Given the description of an element on the screen output the (x, y) to click on. 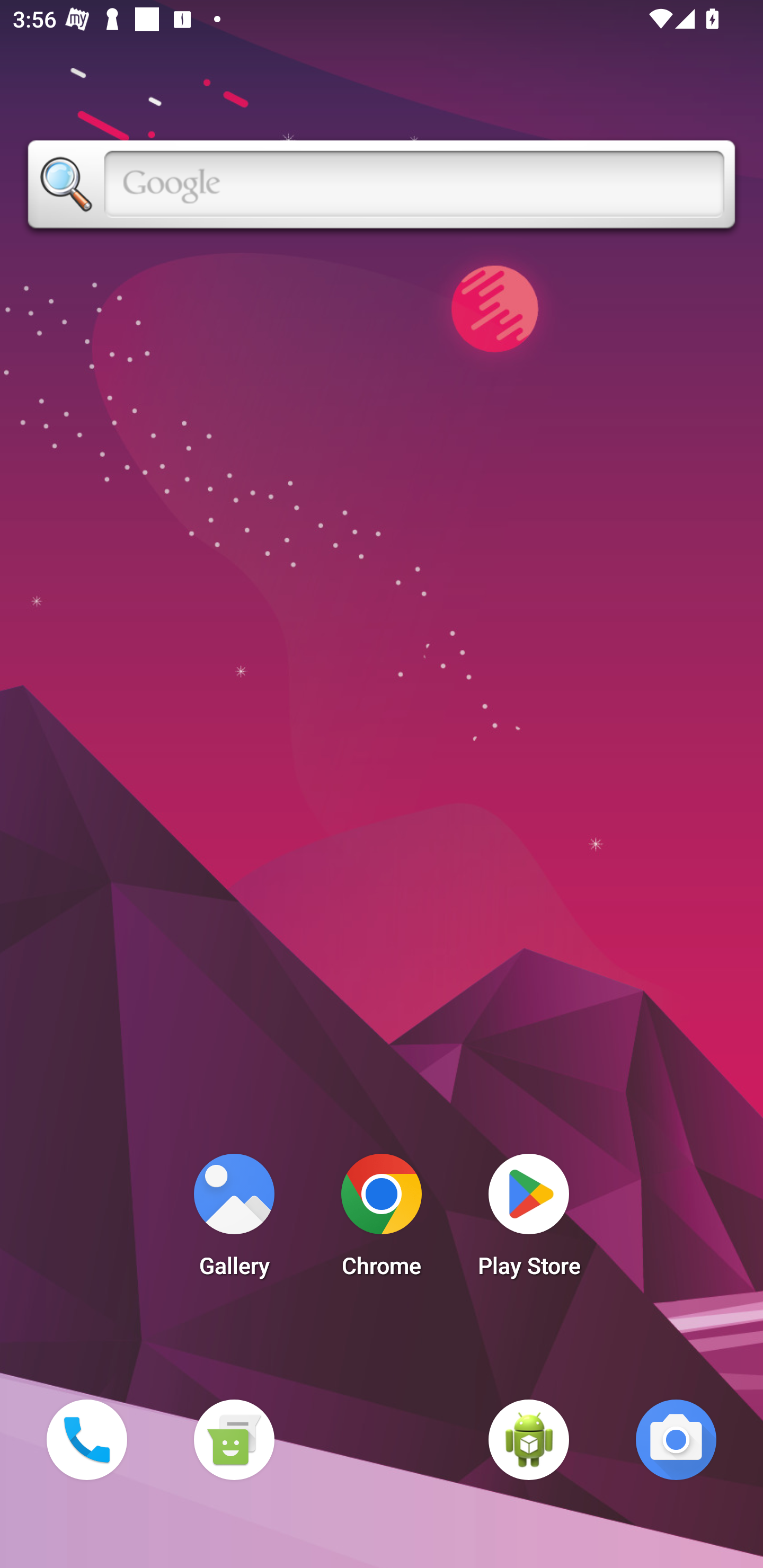
Gallery (233, 1220)
Chrome (381, 1220)
Play Store (528, 1220)
Phone (86, 1439)
Messaging (233, 1439)
WebView Browser Tester (528, 1439)
Camera (676, 1439)
